Given the description of an element on the screen output the (x, y) to click on. 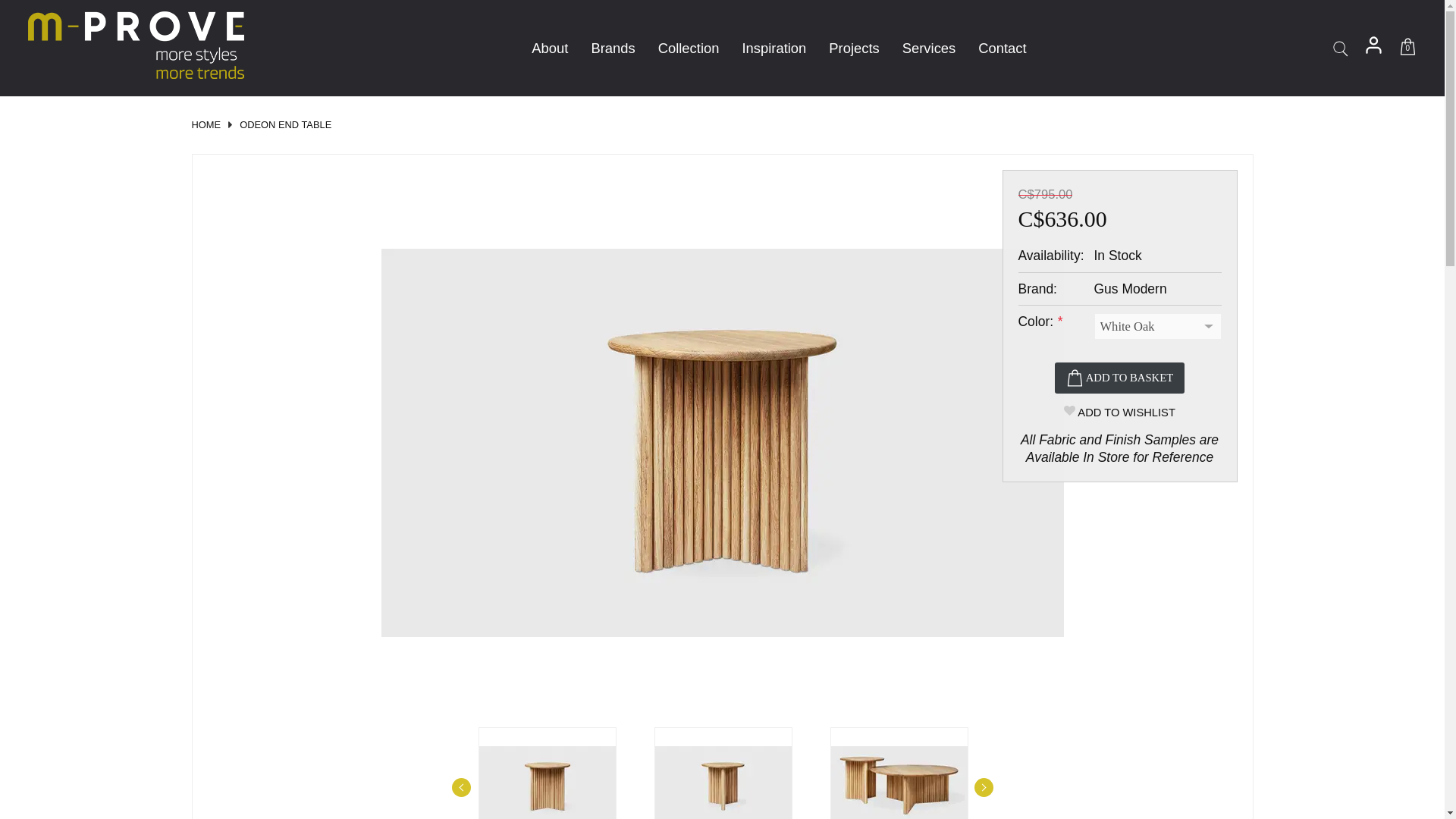
Cart (1407, 50)
Collection (688, 47)
About (549, 47)
Search (1340, 48)
Login (1373, 50)
Brands (612, 47)
